Given the description of an element on the screen output the (x, y) to click on. 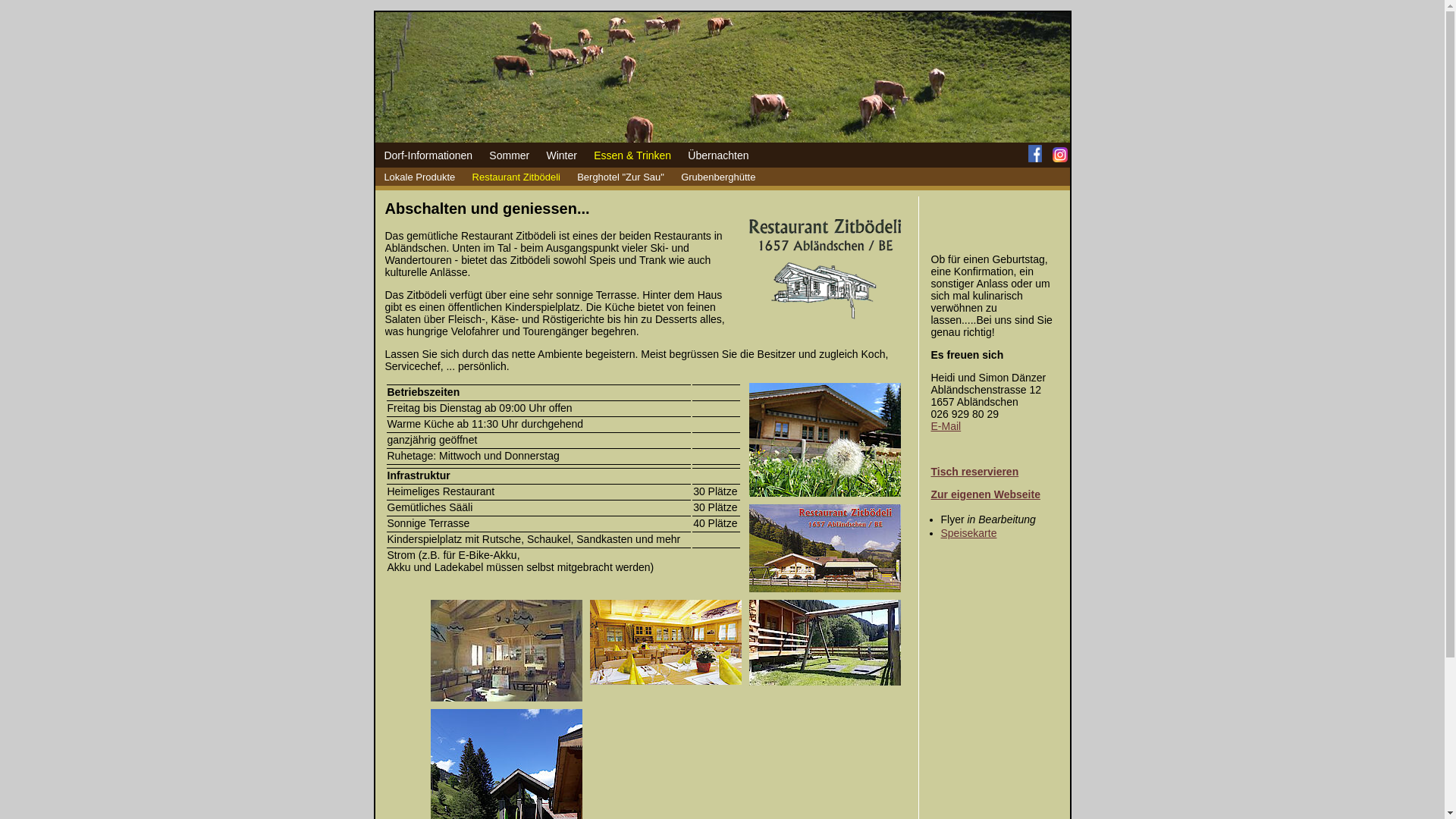
Berghotel "Zur Sau" Element type: text (620, 176)
Dorf-Informationen Element type: text (427, 154)
Lokale Produkte Element type: text (419, 176)
E-Mail Element type: text (946, 426)
Tisch reservieren Element type: text (975, 471)
Speisekarte Element type: text (968, 533)
Essen & Trinken Element type: text (632, 154)
Sommer Element type: text (509, 154)
Zur eigenen Webseite Element type: text (985, 494)
Winter Element type: text (561, 154)
